Given the description of an element on the screen output the (x, y) to click on. 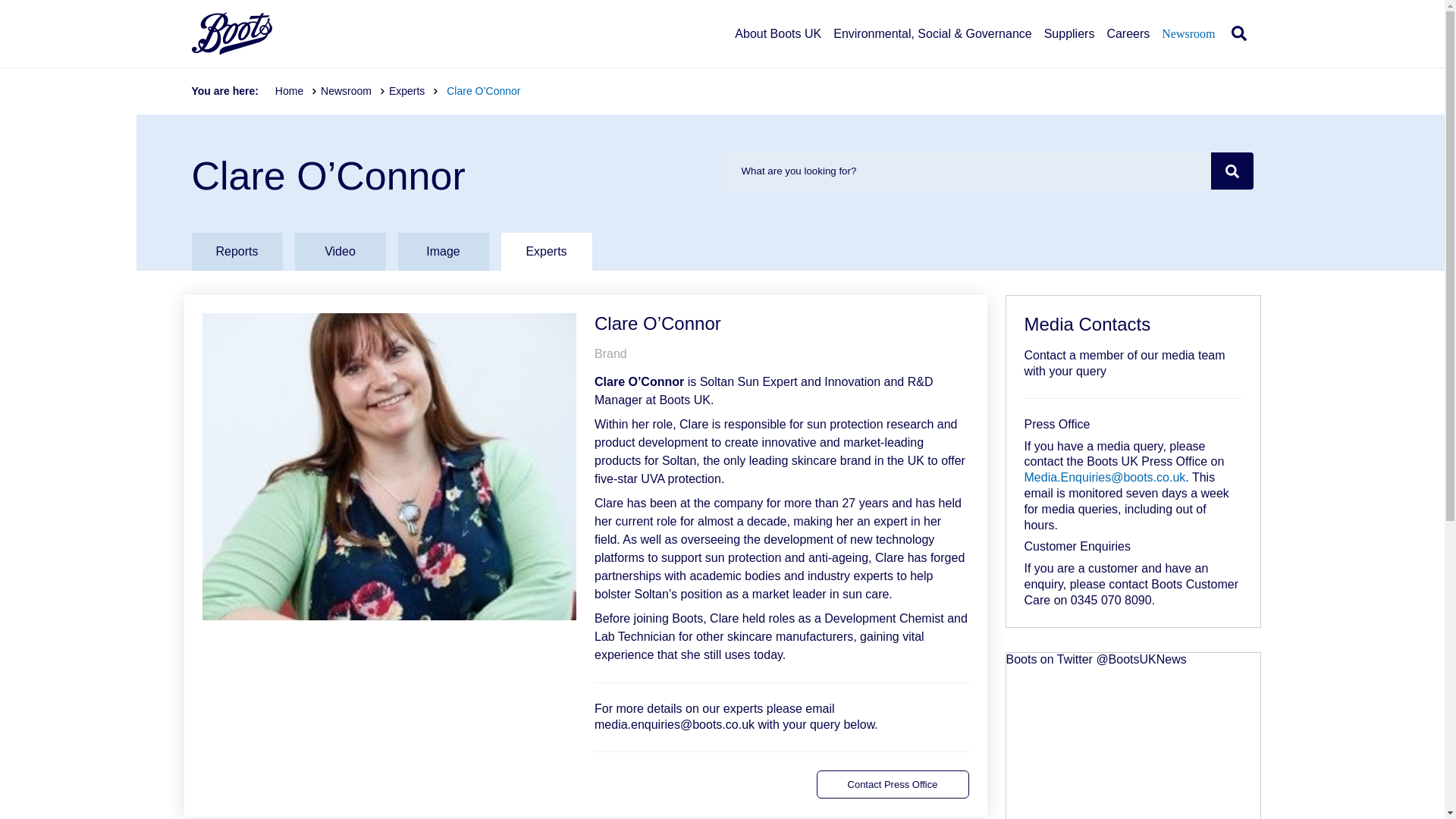
Careers (1128, 47)
Newsroom (352, 91)
Experts (545, 251)
Experts (413, 91)
Home (296, 91)
Reports (236, 251)
Newsroom (1187, 47)
Video (339, 251)
About Boots UK (778, 47)
Go (1230, 170)
Image (442, 251)
Suppliers (1068, 47)
Boots UK (230, 33)
